Given the description of an element on the screen output the (x, y) to click on. 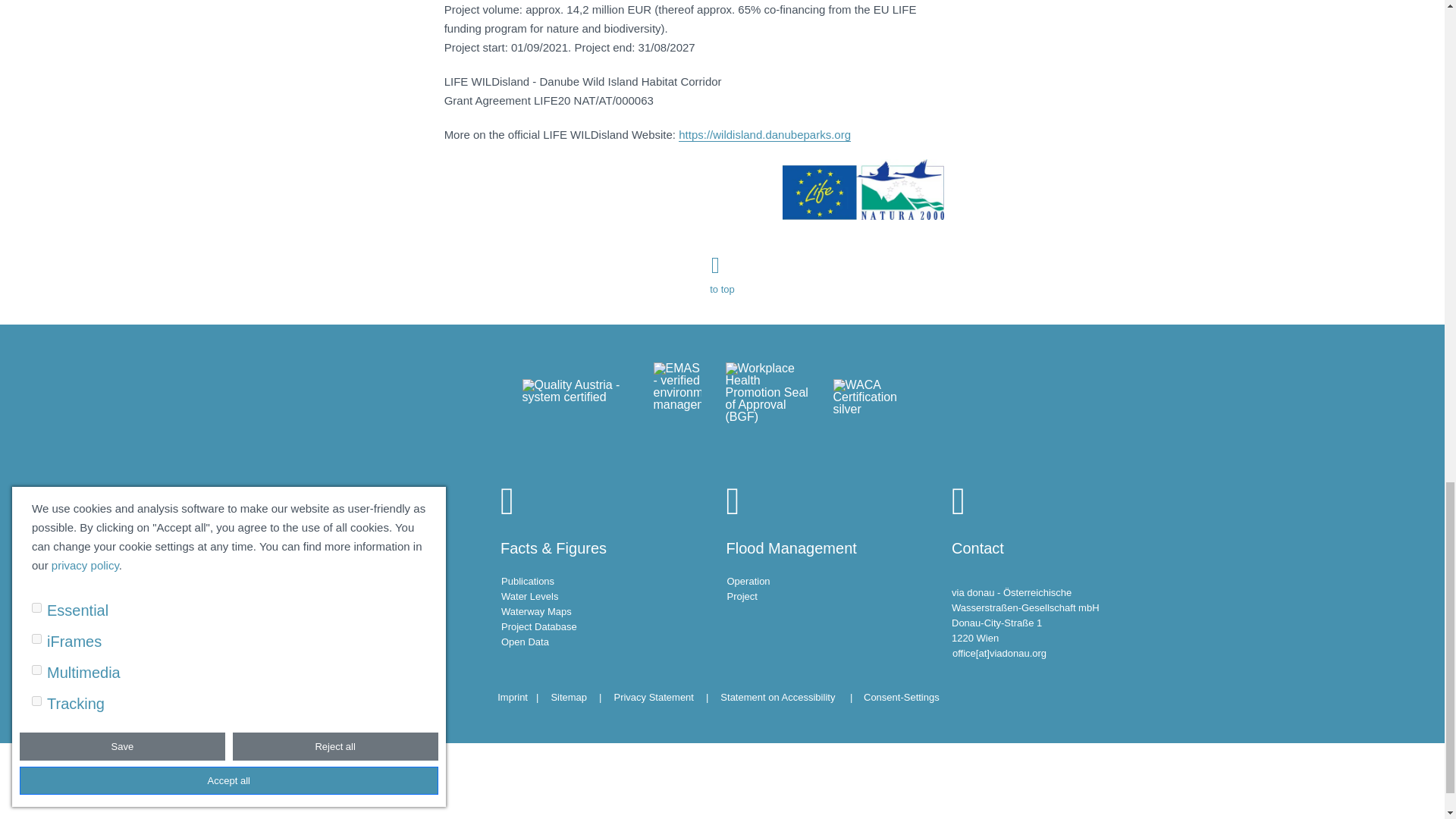
EMAS - verified environmental management (677, 403)
WACA Certification silver (876, 403)
Quality Austria - system certified (574, 403)
